Given the description of an element on the screen output the (x, y) to click on. 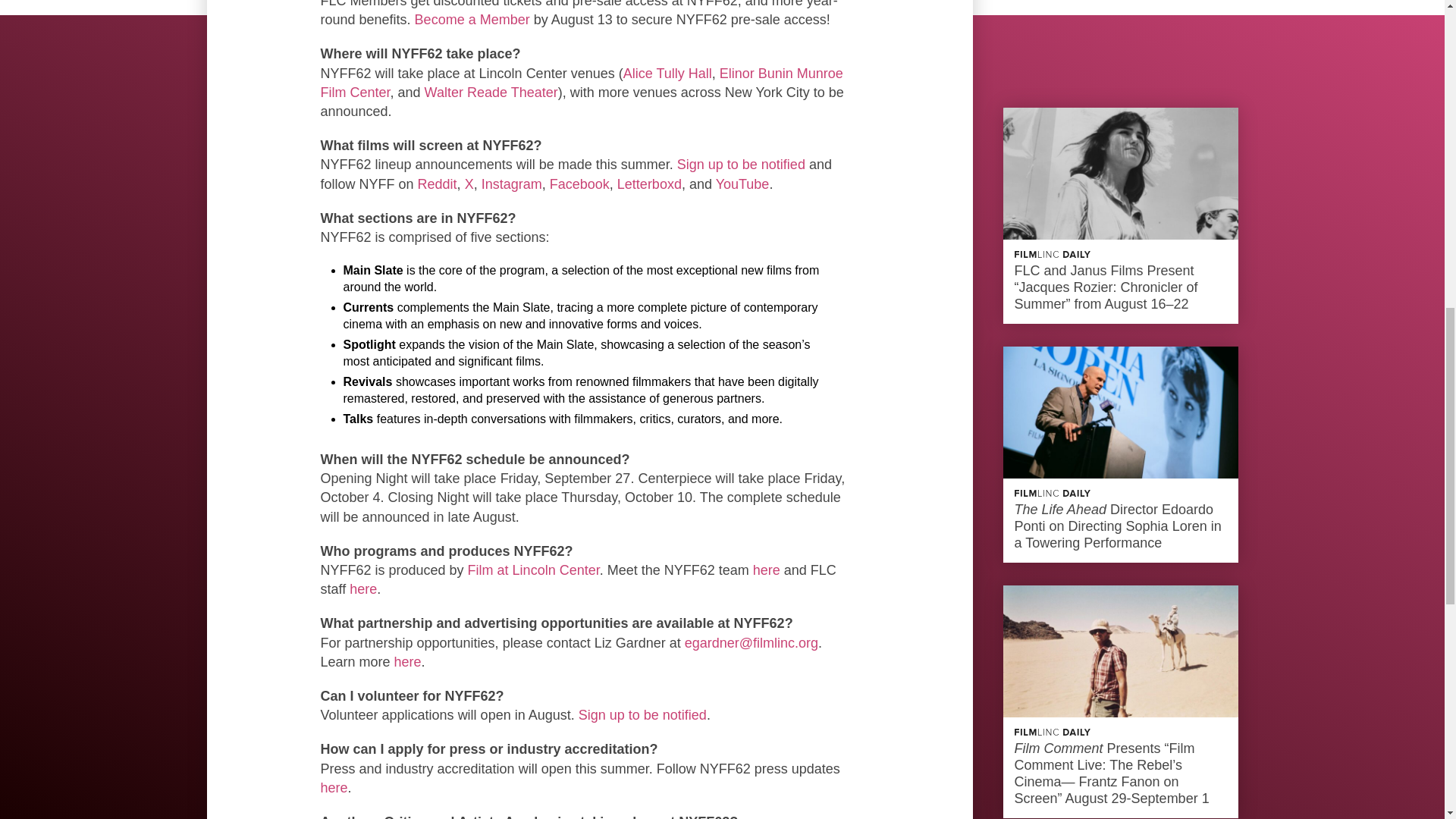
Alice Tully Hall (667, 73)
Reddit (437, 183)
Facebook (580, 183)
Instagram (509, 183)
Elinor Bunin Munroe Film Center (581, 82)
Letterboxd (649, 183)
YouTube (743, 183)
Become a Member (471, 19)
3rd party ad content (1120, 42)
Sign up (701, 164)
to be notified (765, 164)
Walter Reade Theater (491, 92)
